Given the description of an element on the screen output the (x, y) to click on. 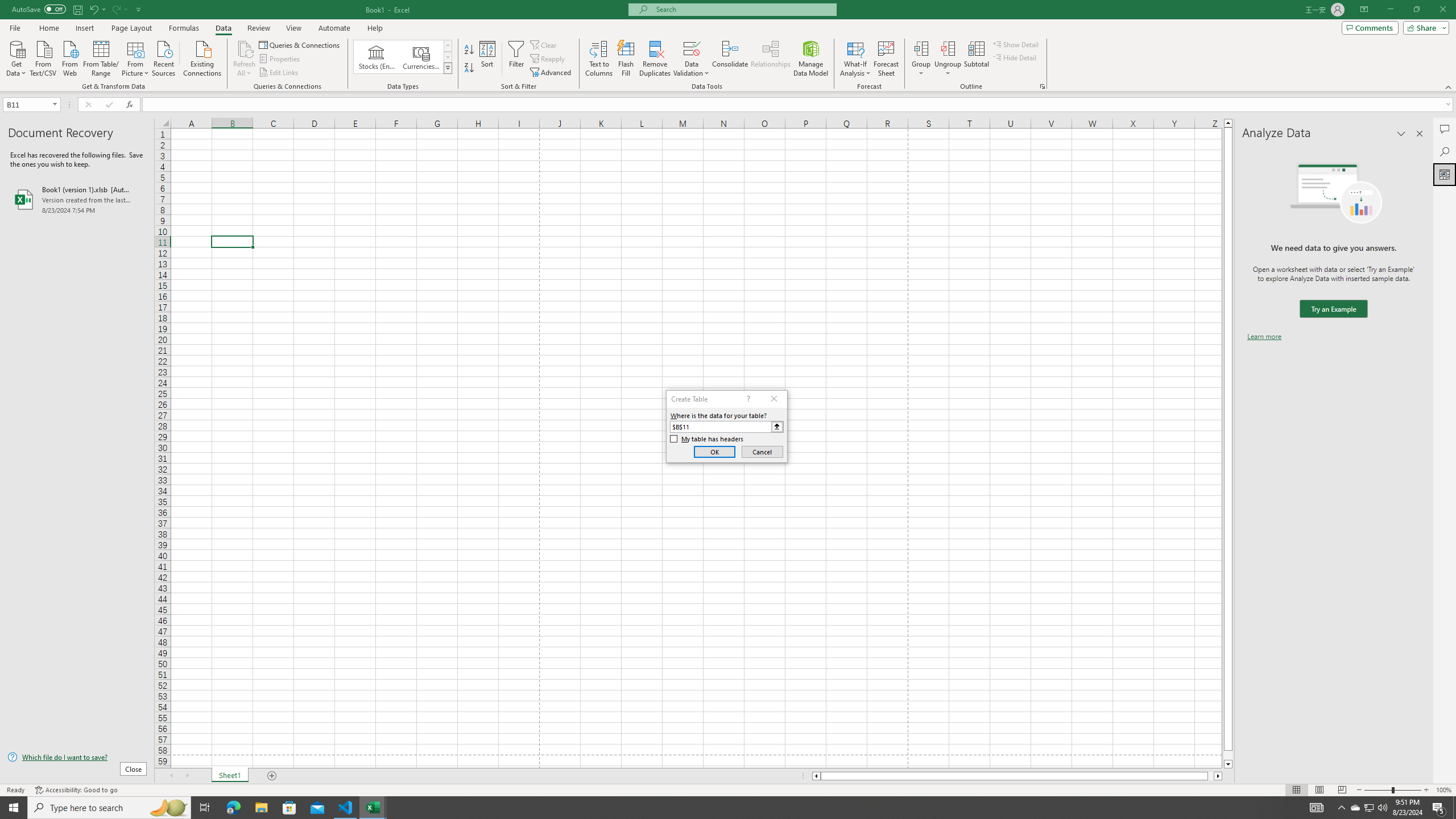
Ungroup... (947, 58)
Review (258, 28)
Comments (1369, 27)
Redo (115, 9)
Page down (1228, 755)
Help (374, 28)
View (293, 28)
What-If Analysis (855, 58)
Column left (815, 775)
Existing Connections (202, 57)
Name Box (27, 104)
File Tab (15, 27)
Currencies (English) (420, 56)
Edit Links (279, 72)
Subtotal (976, 58)
